Given the description of an element on the screen output the (x, y) to click on. 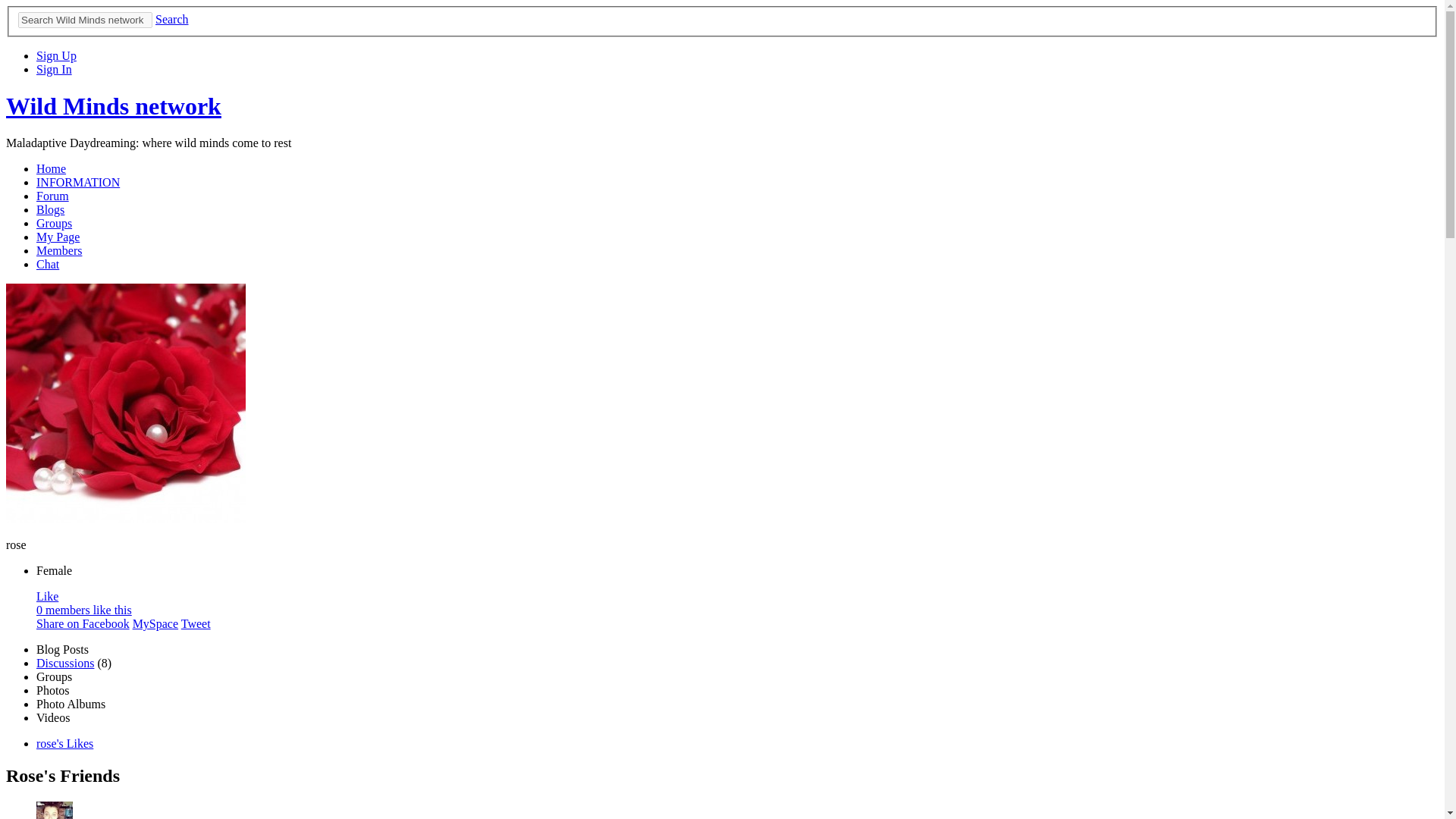
INFORMATION (77, 182)
Sign Up (56, 55)
My Page (58, 236)
Home (50, 168)
Share on Facebook (82, 623)
Search Wild Minds network (84, 19)
Blogs (50, 209)
Sign In (53, 69)
Tweet (195, 623)
Like (47, 595)
Search Wild Minds network (84, 19)
Forum (52, 195)
Search (172, 19)
Wild Minds network (113, 105)
Chat (47, 264)
